Given the description of an element on the screen output the (x, y) to click on. 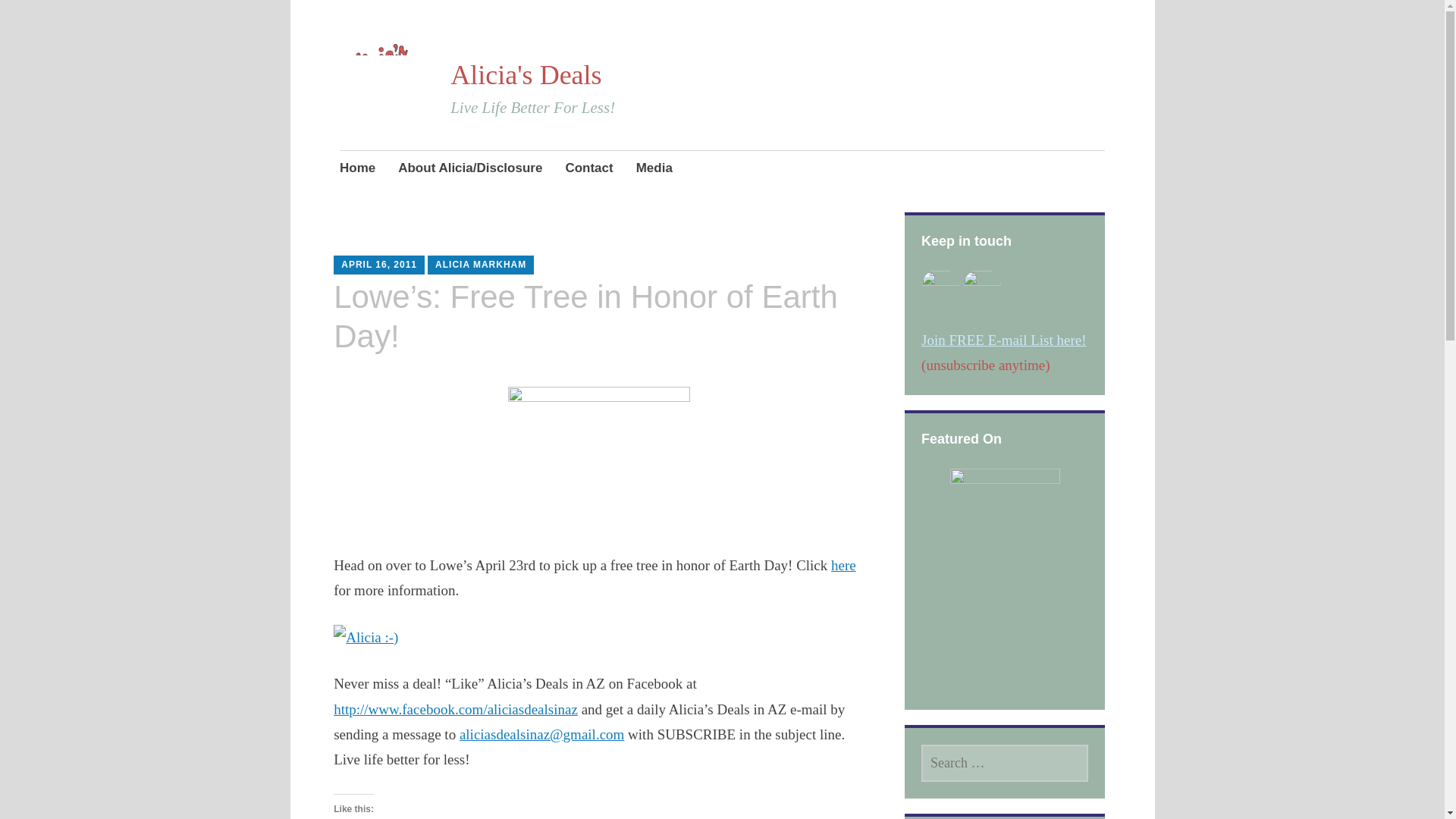
Join FREE E-mail List here! (1003, 340)
Contact (588, 169)
signature (365, 637)
APRIL 16, 2011 (378, 264)
Home (357, 169)
Search (173, 17)
here (843, 565)
ALICIA MARKHAM (480, 264)
Alicia's Deals (525, 74)
tree (599, 454)
Media (654, 169)
